Given the description of an element on the screen output the (x, y) to click on. 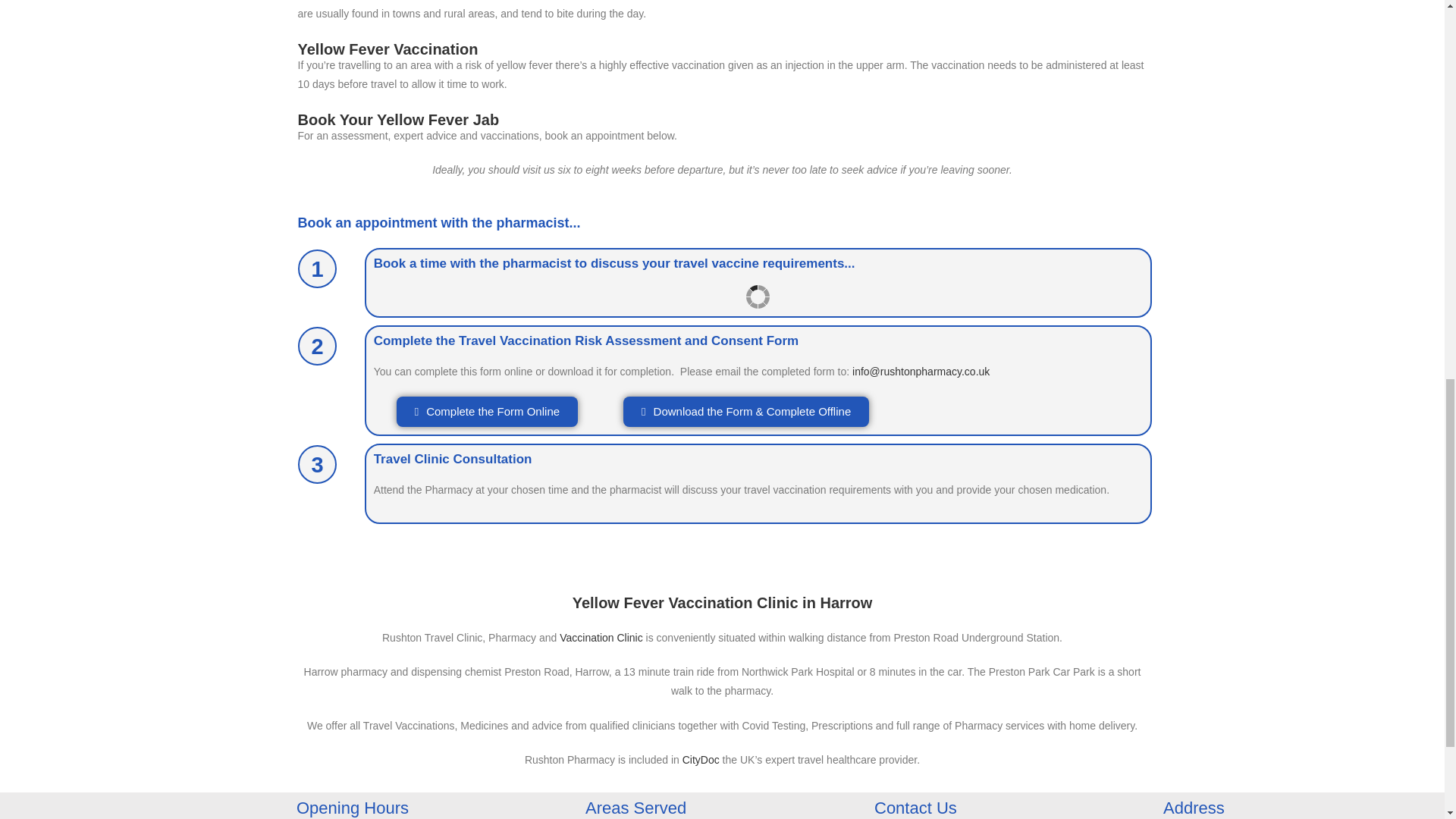
CityDoc (700, 759)
Vaccination Clinic (600, 637)
Complete the Form Online (487, 411)
